Given the description of an element on the screen output the (x, y) to click on. 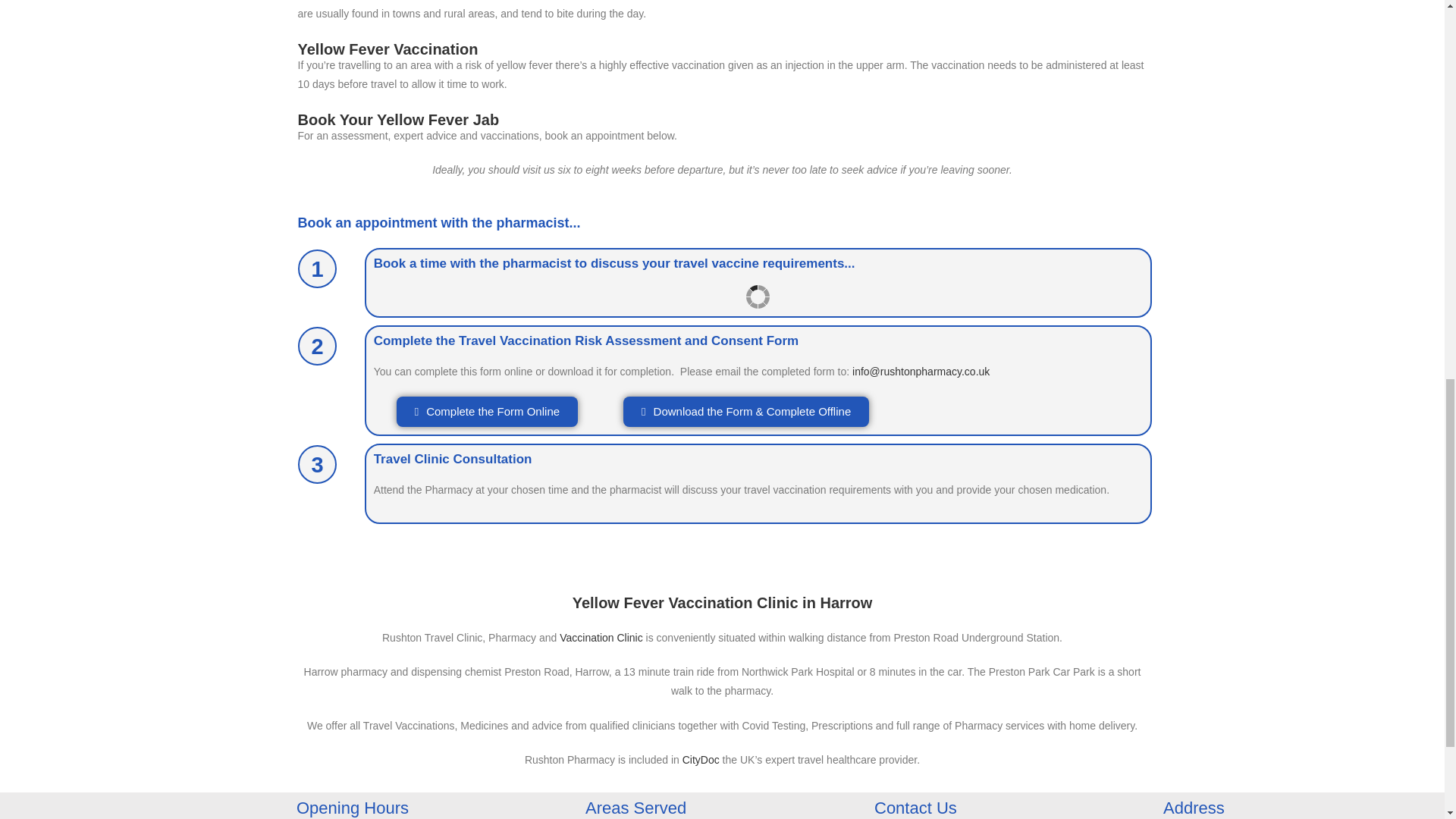
CityDoc (700, 759)
Vaccination Clinic (600, 637)
Complete the Form Online (487, 411)
